Given the description of an element on the screen output the (x, y) to click on. 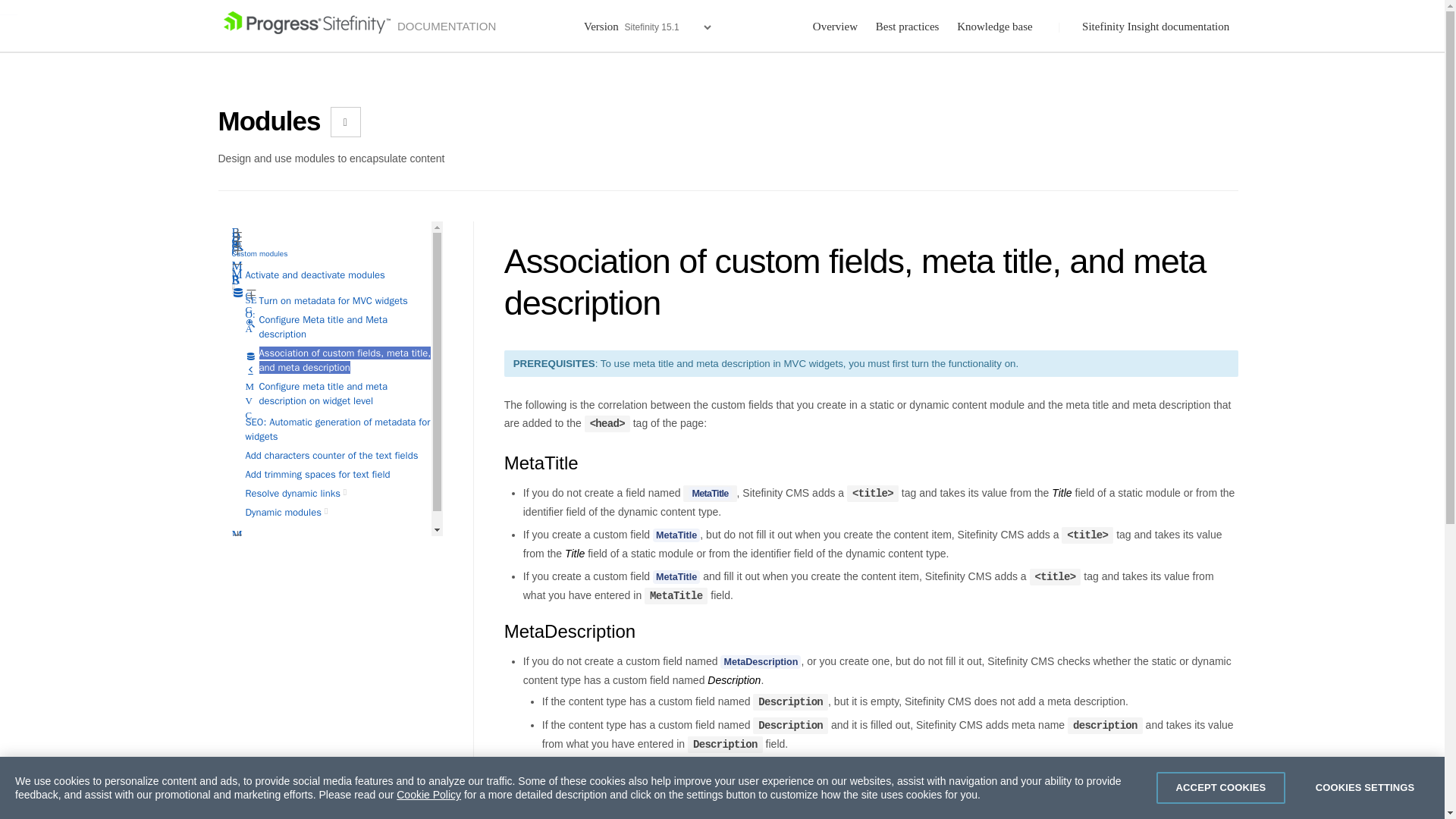
For developers (349, 491)
Knowledge base (996, 26)
Overview (237, 271)
Best practices (907, 26)
Administration (237, 284)
Overview (237, 266)
Custom modules (259, 253)
DOCUMENTATION (360, 26)
Sitefinity Insight documentation (1157, 26)
Overview (834, 26)
Modules (269, 125)
Administration (330, 510)
Overview (237, 290)
Configure Meta title and Meta description (323, 326)
